Given the description of an element on the screen output the (x, y) to click on. 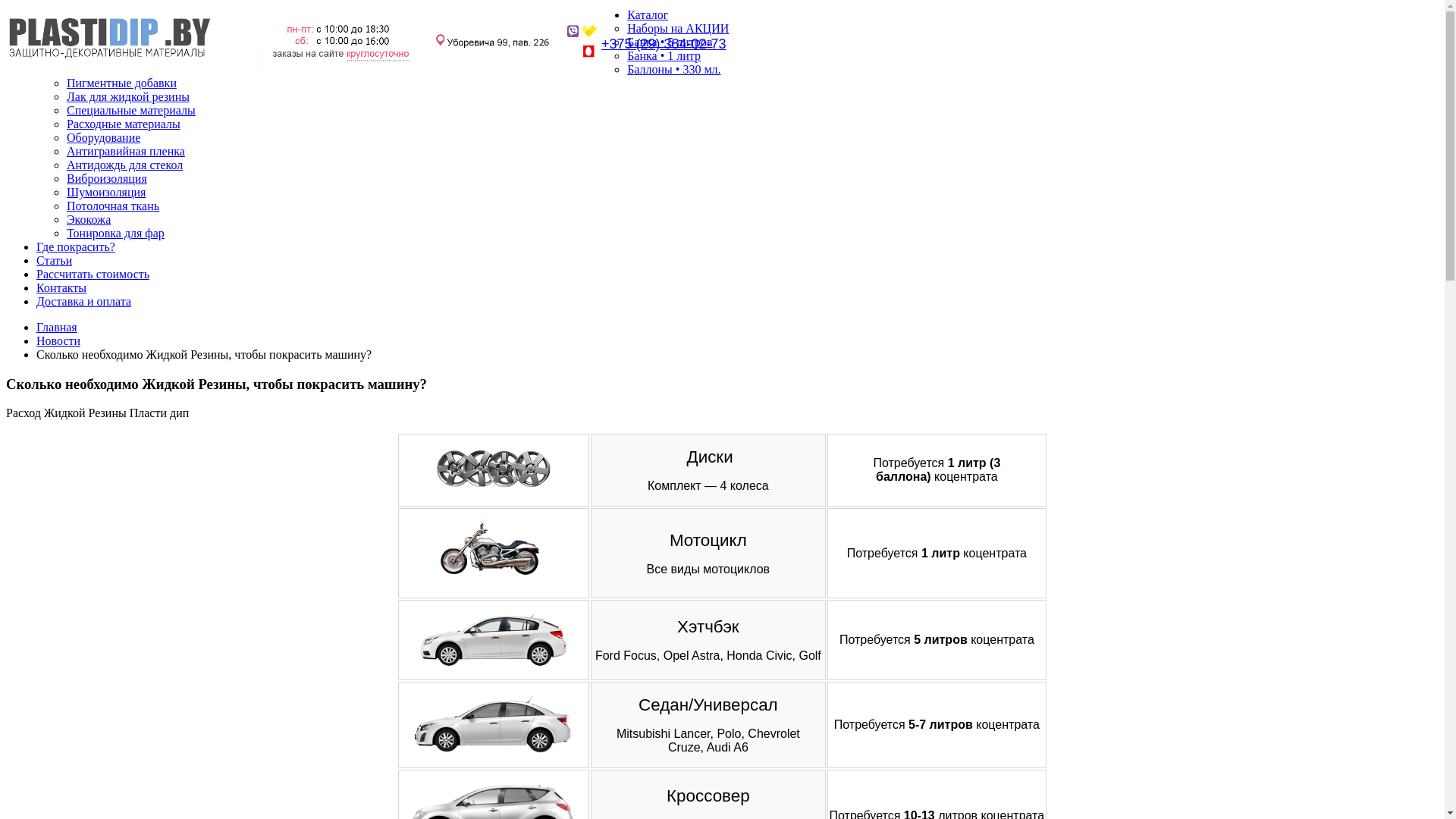
+375 (29) 384-02-73 Element type: text (663, 43)
